Given the description of an element on the screen output the (x, y) to click on. 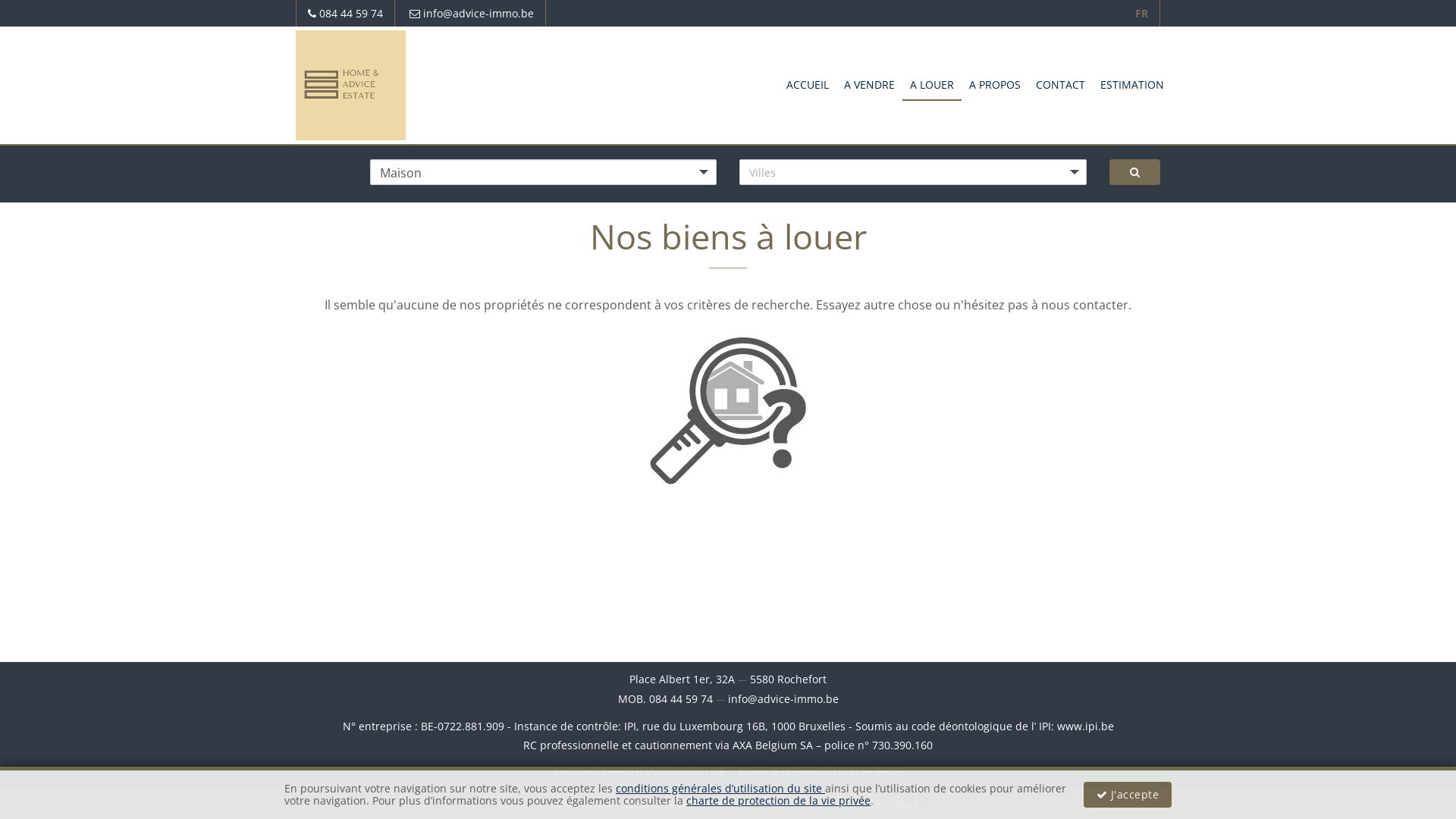
CONTACT Element type: text (1060, 83)
A LOUER Element type: text (931, 83)
A VENDRE Element type: text (869, 83)
A PROPOS Element type: text (994, 83)
info@advice-immo.be Element type: text (783, 698)
DESIGNED AND DEVELOPED BY WEBULOUS Element type: text (792, 803)
ESTIMATION Element type: text (1132, 83)
POWERED BY WHISE Element type: text (597, 803)
info@advice-immo.be Element type: text (472, 13)
ACCUEIL Element type: text (807, 83)
www.ipi.be Element type: text (1085, 725)
084 44 59 74 Element type: text (680, 698)
084 44 59 74 Element type: text (345, 13)
J'accepte Element type: text (1126, 794)
FR Element type: text (1141, 13)
